Given the description of an element on the screen output the (x, y) to click on. 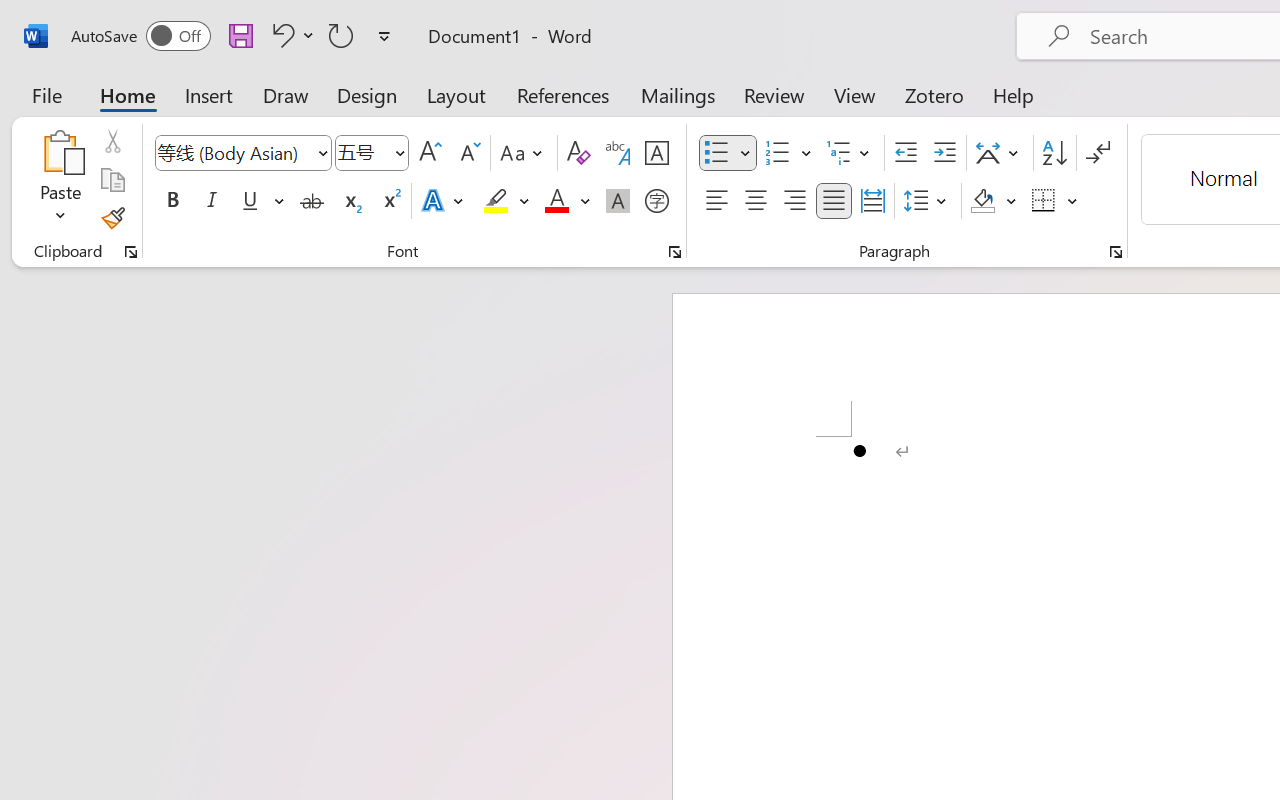
Undo Bullet Default (290, 35)
